Given the description of an element on the screen output the (x, y) to click on. 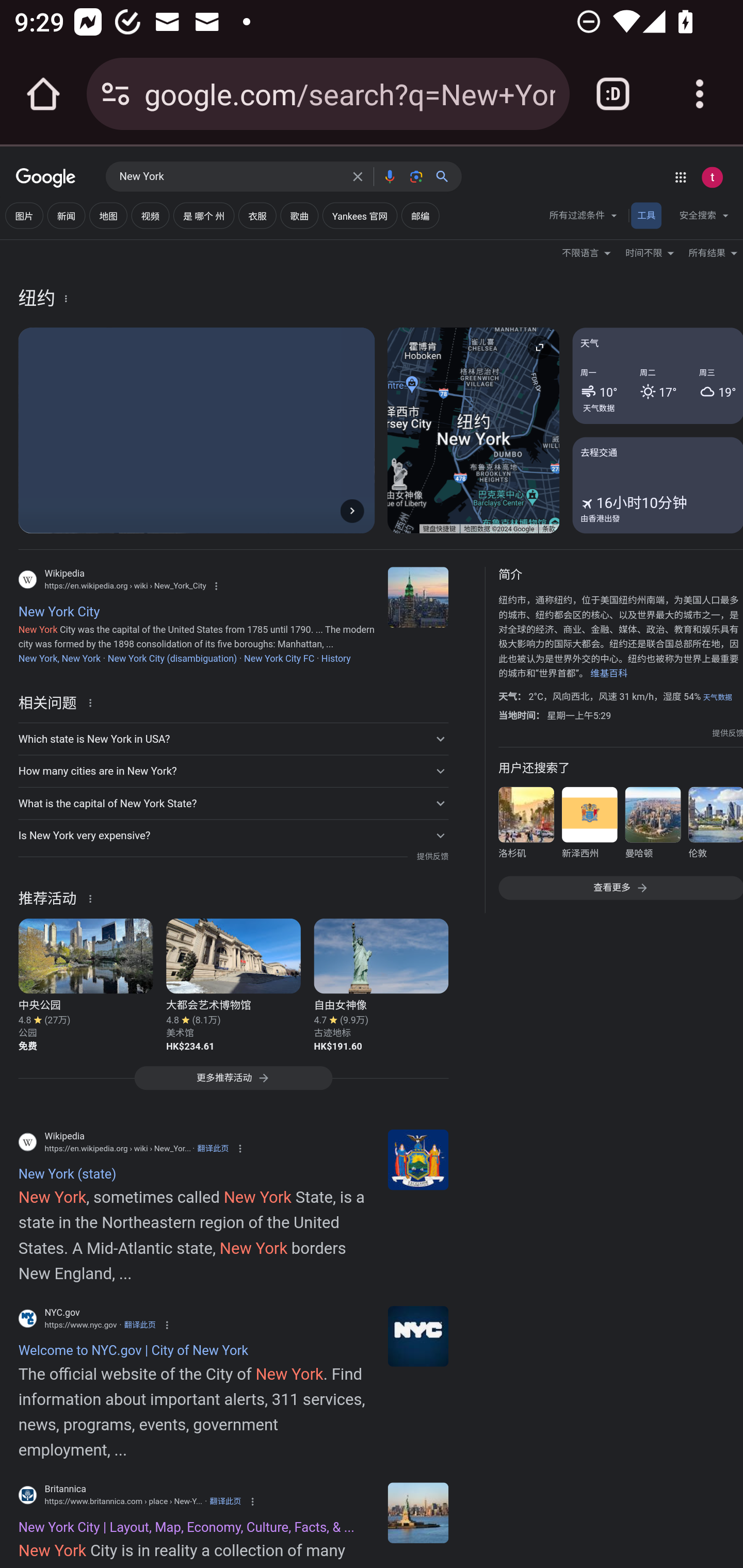
Open the home page (43, 93)
Connection is secure (115, 93)
Switch or close tabs (612, 93)
Customize and control Google Chrome (699, 93)
清除 (357, 176)
按语音搜索 (389, 176)
按图搜索 (415, 176)
搜索 (446, 176)
Google 应用 (680, 176)
Google 账号： test appium (testappium002@gmail.com) (712, 176)
Google (45, 178)
New York (229, 177)
图片 (24, 215)
新闻 (65, 215)
地图 (107, 215)
视频 (149, 215)
添加“是 哪个 州” 是 哪个 州 (203, 215)
添加“衣服” 衣服 (256, 215)
添加“歌曲” 歌曲 (299, 215)
添加“Yankees 官网” Yankees 官网 (359, 215)
添加“邮编” 邮编 (420, 215)
所有过滤条件 (583, 217)
工具 (646, 215)
安全搜索 (703, 217)
更多选项 (65, 298)
天气 周一 高温 10 度 周二 高温 17 度 周三 高温 19 度 (657, 375)
展开地图 (539, 346)
天气数据 (599, 407)
去程交通 16小时10分钟 乘坐飞机 由香港出發 (657, 484)
下一张图片 (352, 510)
New_York_City (417, 597)
New York, New York (58, 658)
New York City (disambiguation) (171, 658)
New York City FC (278, 658)
History (335, 658)
维基百科 (608, 672)
天气数据 (717, 697)
关于这条结果的详细信息 (93, 701)
Which state is New York in USA? (232, 738)
提供反馈 (727, 733)
How many cities are in New York? (232, 770)
洛杉矶 (526, 826)
新泽西州 (588, 826)
曼哈顿 (652, 826)
伦敦 (715, 826)
What is the capital of New York State? (232, 803)
Is New York very expensive? (232, 835)
提供反馈 (432, 856)
查看更多 查看更多 查看更多 (620, 887)
关于这条结果的详细信息 (93, 897)
更多推荐活动 (232, 1082)
New_York_(state) (417, 1159)
翻译此页 (212, 1148)
www.nyc (417, 1336)
翻译此页 (140, 1324)
New-York-City (417, 1511)
翻译此页 (225, 1501)
